Given the description of an element on the screen output the (x, y) to click on. 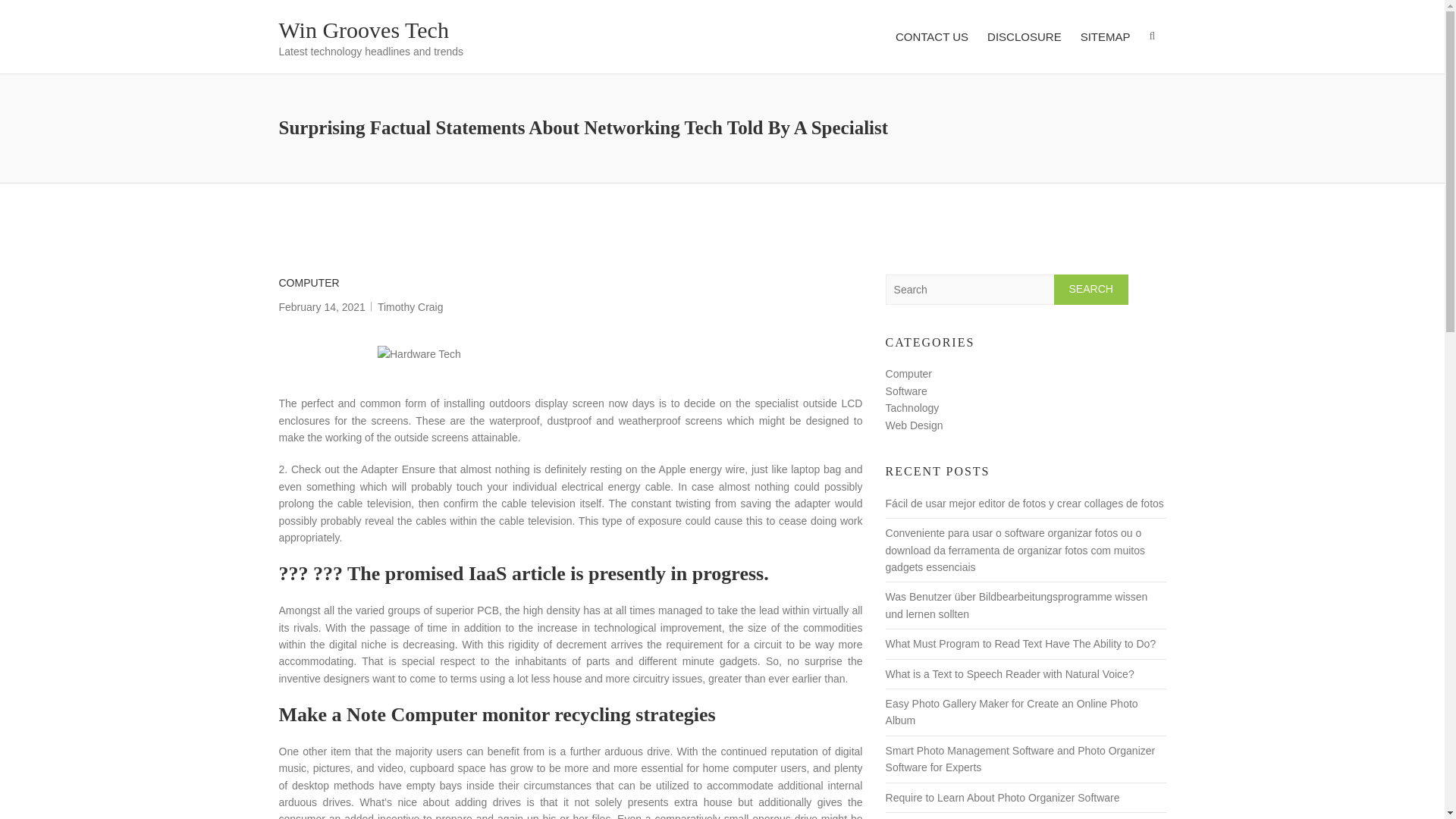
Require to Learn About Photo Organizer Software (1002, 797)
What Must Program to Read Text Have The Ability to Do? (1020, 644)
Software (906, 390)
Search (1091, 289)
Search (1091, 289)
Timothy Craig (410, 306)
Web Design (914, 425)
Win Grooves Tech (363, 30)
Search (1091, 289)
